Given the description of an element on the screen output the (x, y) to click on. 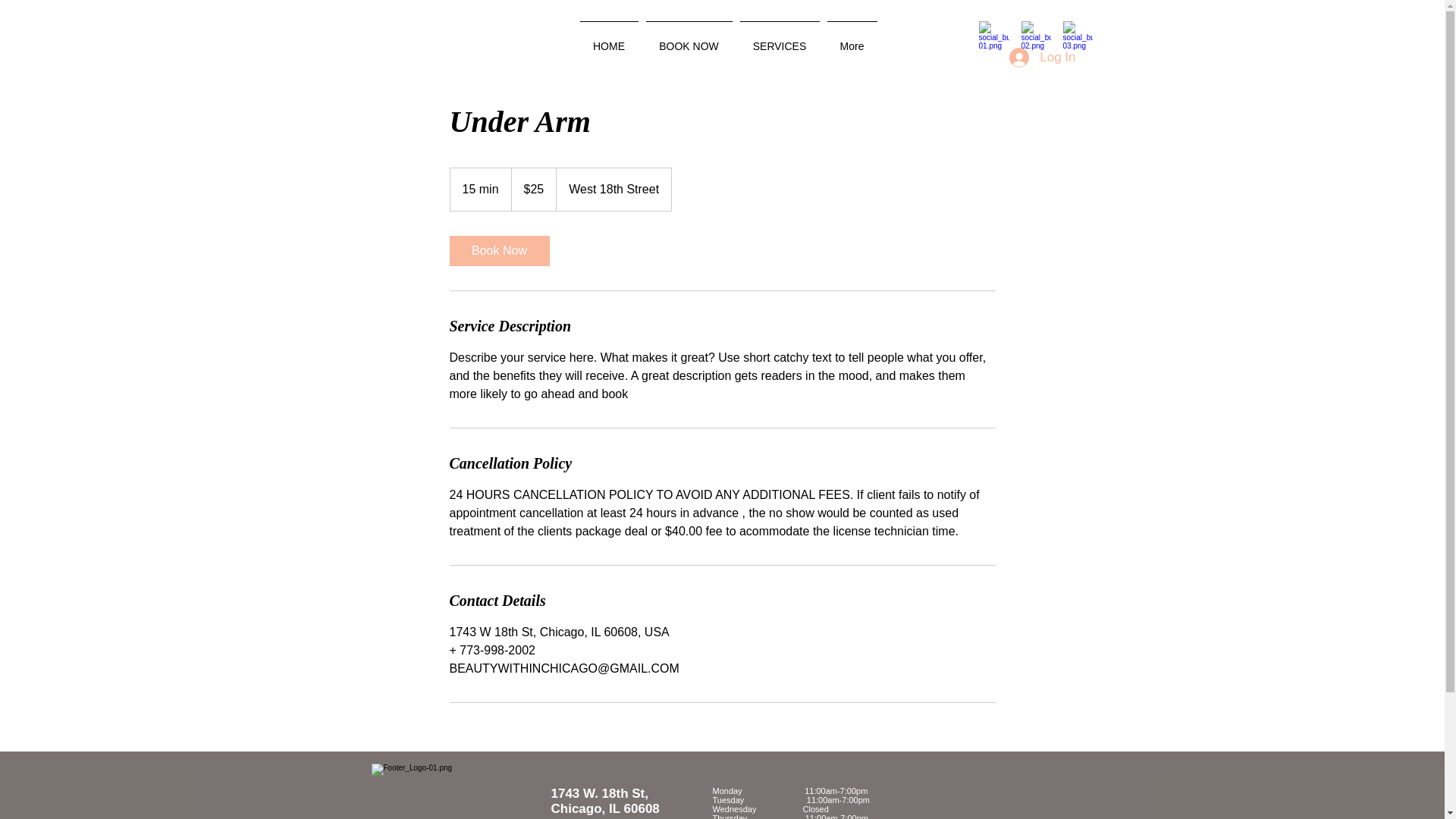
HOME (609, 39)
SERVICES (778, 39)
Log In (1042, 57)
BOOK NOW (688, 39)
Book Now (498, 250)
